Given the description of an element on the screen output the (x, y) to click on. 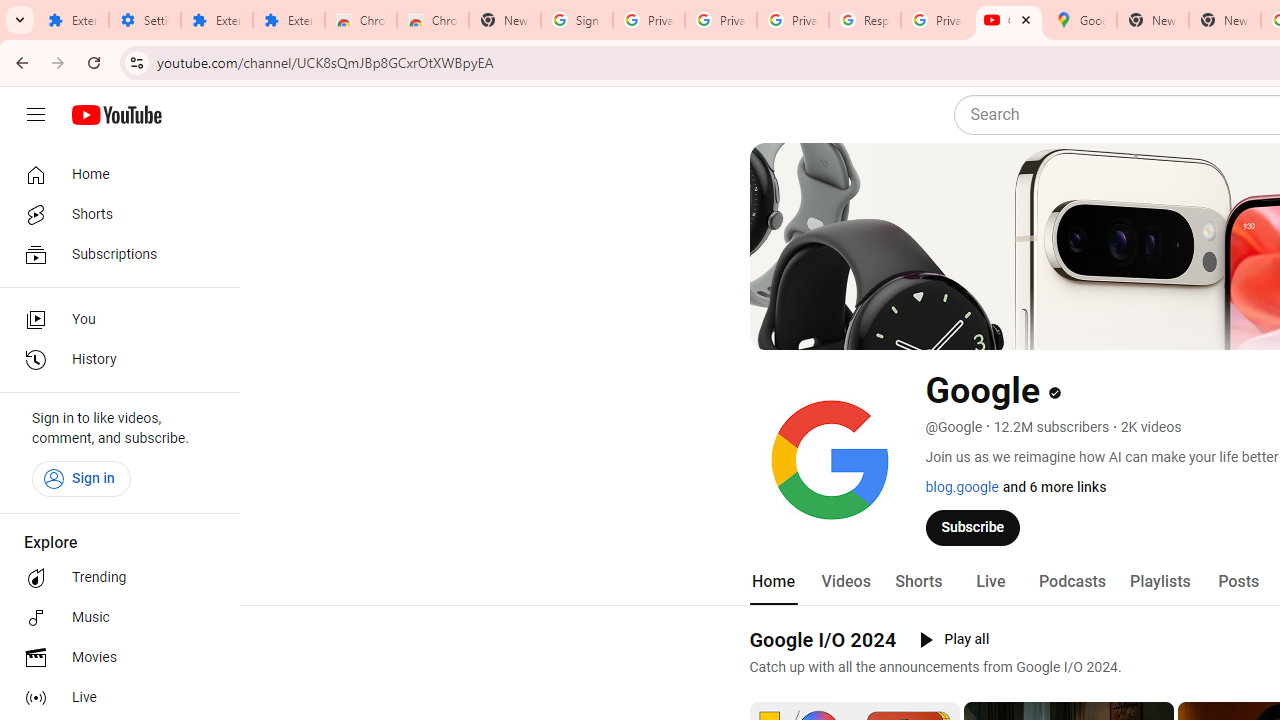
Playlists (1160, 581)
Search tabs (20, 20)
Extensions (216, 20)
Guide (35, 115)
Sign in (81, 478)
New Tab (504, 20)
Settings (144, 20)
Posts (1238, 581)
Podcasts (1072, 581)
History (113, 359)
Shorts (113, 214)
